Given the description of an element on the screen output the (x, y) to click on. 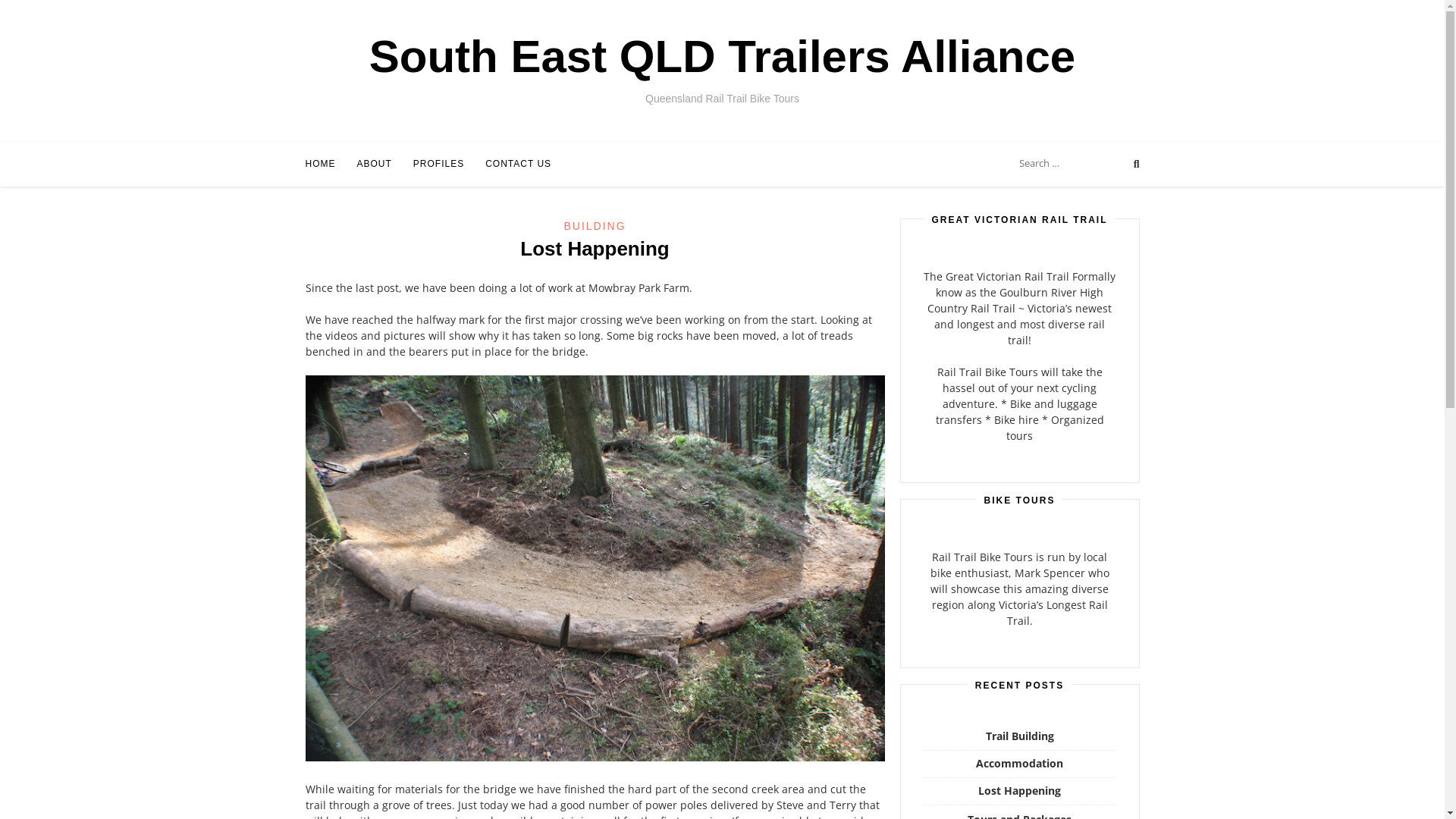
Lost Happening Element type: text (1019, 790)
ABOUT Element type: text (373, 163)
BUILDING Element type: text (594, 225)
Trail Building Element type: text (1019, 735)
Search Element type: text (26, 12)
HOME Element type: text (319, 163)
South East QLD Trailers Alliance Element type: text (722, 56)
Accommodation Element type: text (1019, 763)
PROFILES Element type: text (438, 163)
CONTACT US Element type: text (518, 163)
